Given the description of an element on the screen output the (x, y) to click on. 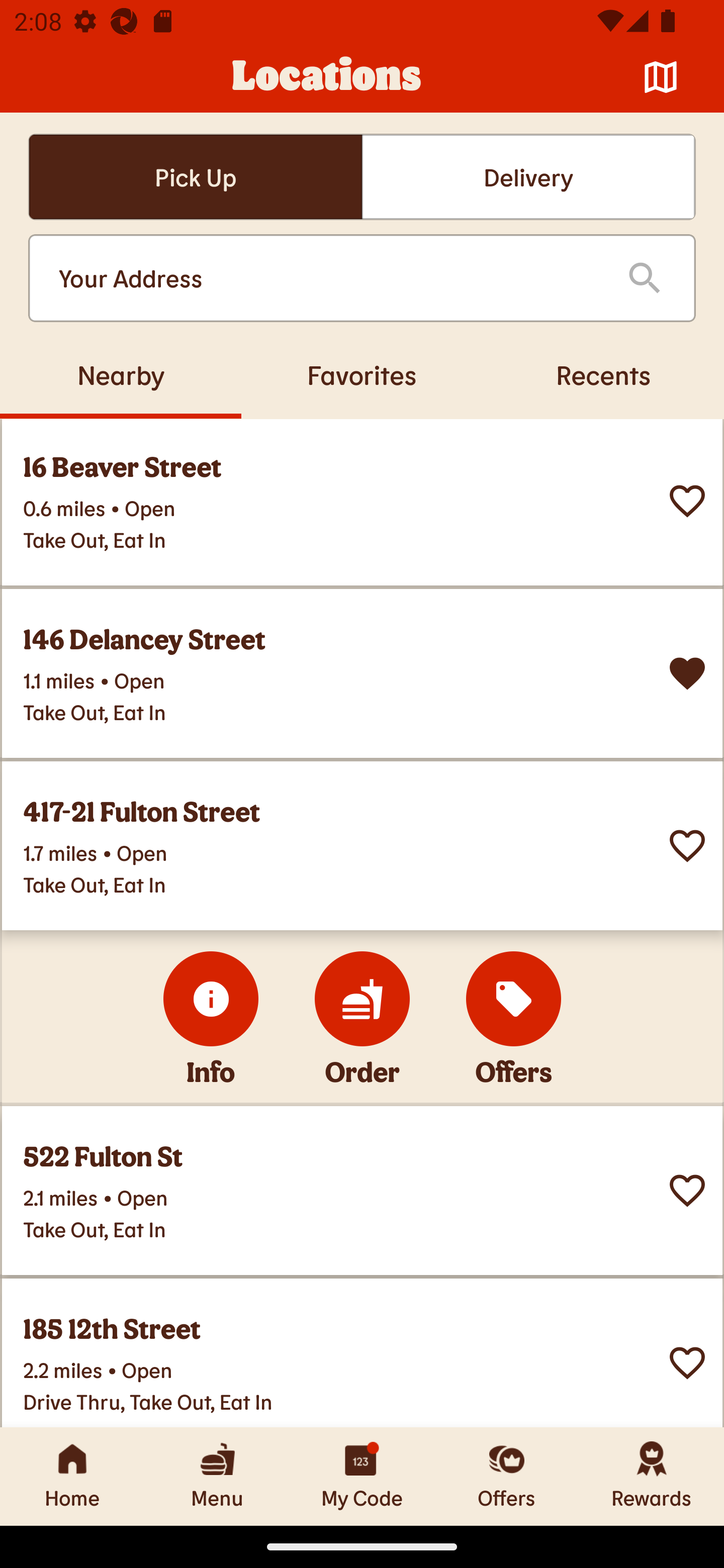
Map 󰦂 (660, 77)
Locations (326, 77)
Pick UpSelected Pick UpSelected Pick Up (195, 176)
Delivery Delivery Delivery (528, 176)
Your Address (327, 277)
Nearby (120, 374)
Favorites (361, 374)
Recents (603, 374)
Set this restaurant as a favorite  (687, 500)
Remove from Favorites?  (687, 673)
Set this restaurant as a favorite  (687, 845)
Info  (210, 998)
Order (361, 998)
Offers  (513, 998)
Set this restaurant as a favorite  (687, 1190)
Set this restaurant as a favorite  (687, 1363)
Home (72, 1475)
Menu (216, 1475)
My Code (361, 1475)
Offers (506, 1475)
Rewards (651, 1475)
